Given the description of an element on the screen output the (x, y) to click on. 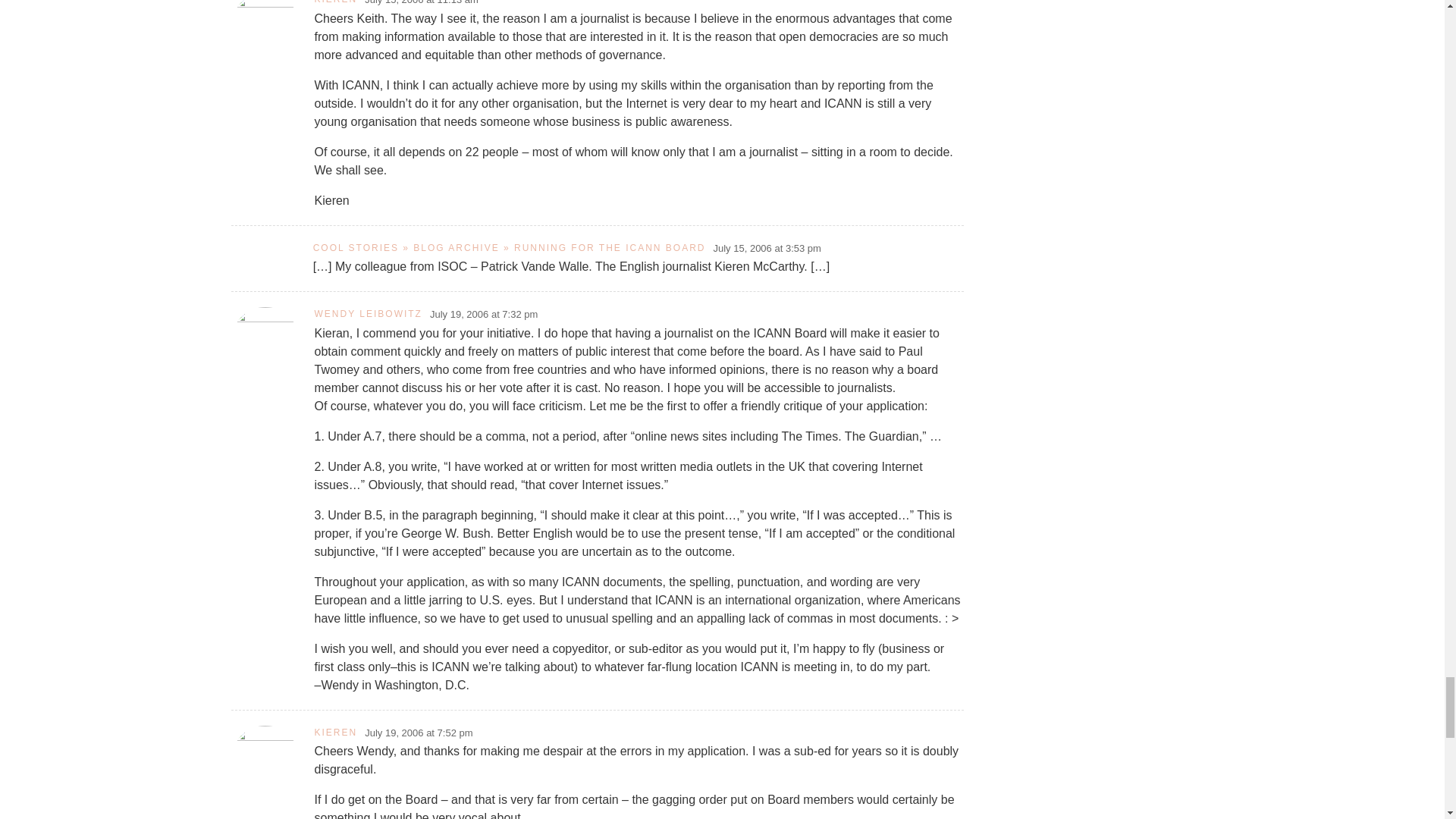
July 15, 2006 at 3:53 pm (767, 248)
July 19, 2006 at 7:32 pm (483, 314)
July 15, 2006 at 11:13 am (422, 3)
WENDY LEIBOWITZ (368, 313)
KIEREN (335, 2)
